Given the description of an element on the screen output the (x, y) to click on. 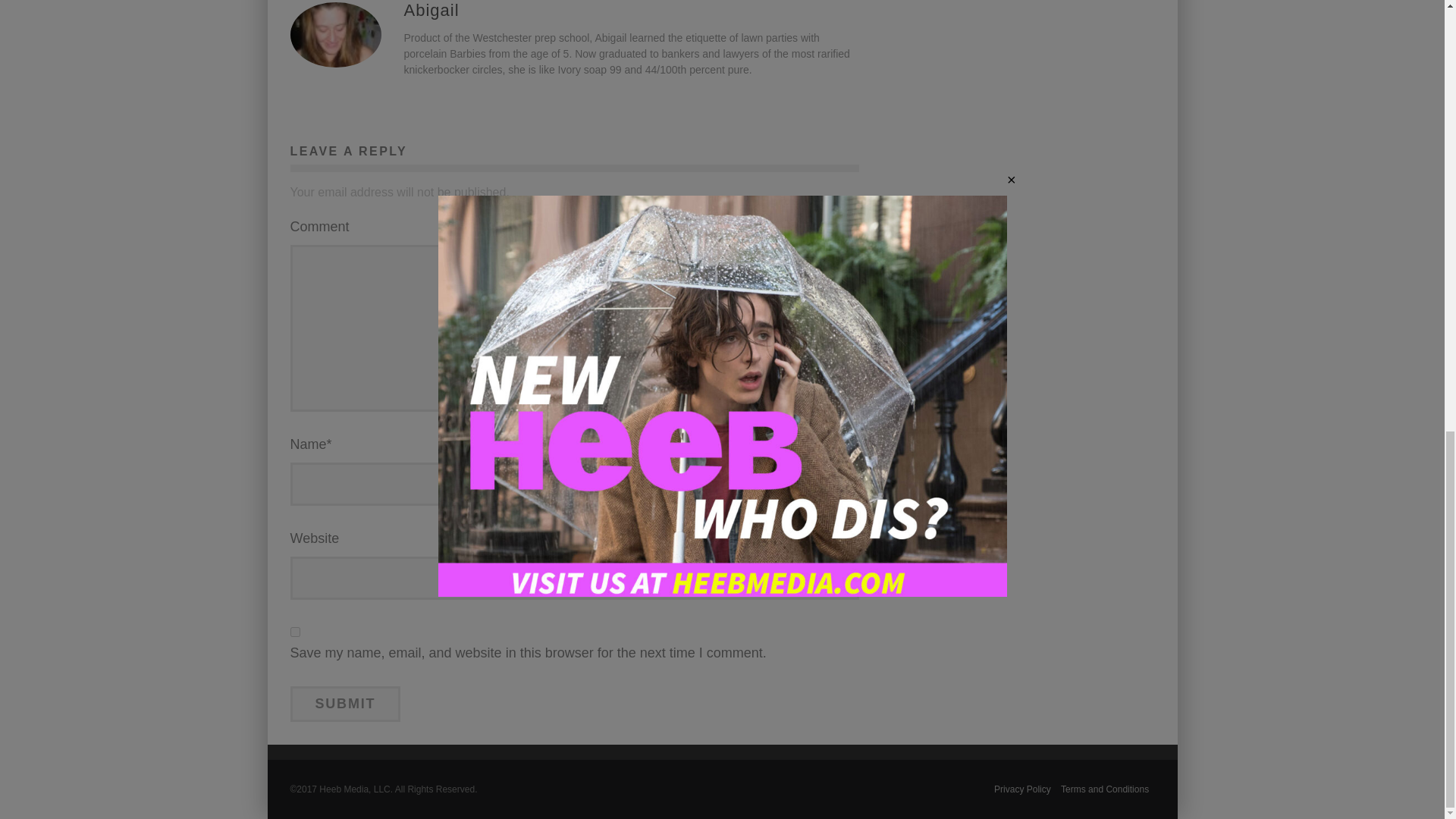
Abigail (430, 9)
Submit (344, 703)
Submit (344, 703)
yes (294, 631)
